Given the description of an element on the screen output the (x, y) to click on. 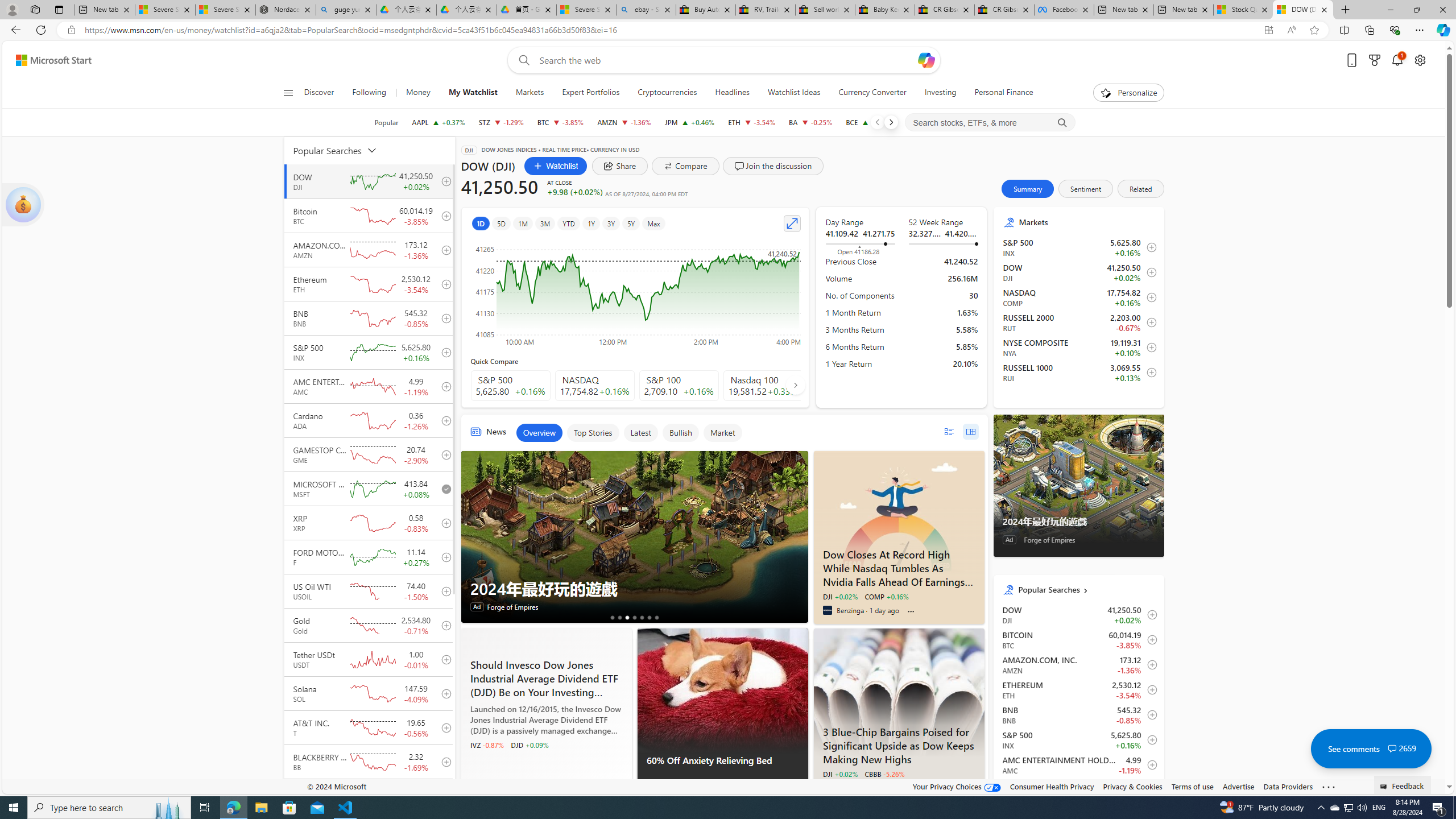
Compare (685, 166)
Buy Auto Parts & Accessories | eBay (706, 9)
JPM JPMORGAN CHASE & CO. increase 220.18 +1.01 +0.46% (690, 122)
Microsoft rewards (1374, 60)
Facebook (1064, 9)
Terms of use (1192, 786)
Previous (876, 122)
Consumer Health Privacy (1051, 785)
